Given the description of an element on the screen output the (x, y) to click on. 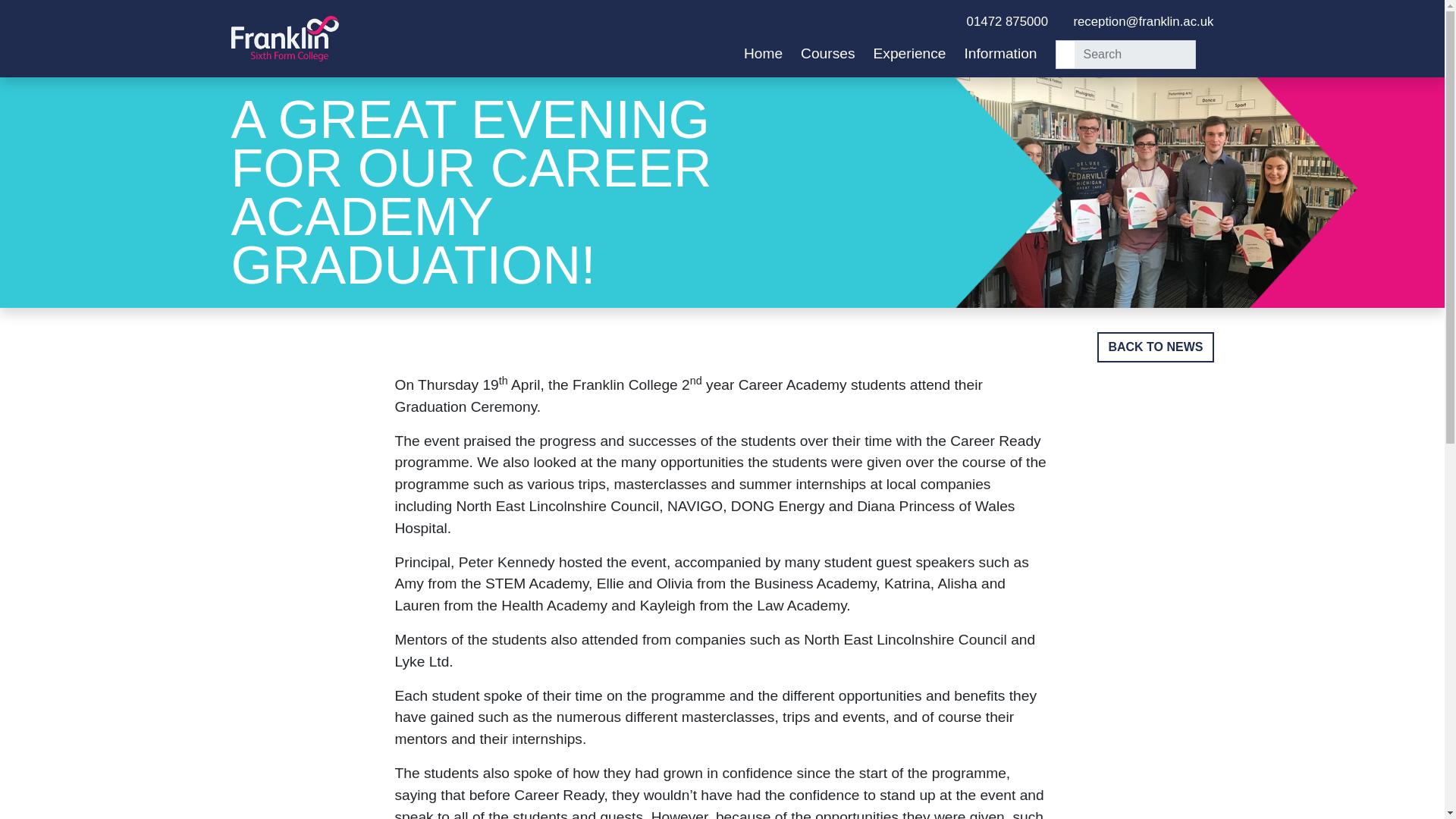
Courses (827, 53)
Information (999, 53)
Experience (909, 53)
Franklin College on Twitter (938, 21)
01472 875000 (1007, 20)
Information (999, 53)
Franklin College on YouTube (951, 21)
Franklin College on Instagram (927, 21)
E-Mail Franklin College (1138, 20)
Franklin College on Facebook (914, 21)
Home (763, 53)
Franklin College Home (284, 38)
Phone Franklin College (1007, 20)
Courses (827, 53)
Home (763, 53)
